Given the description of an element on the screen output the (x, y) to click on. 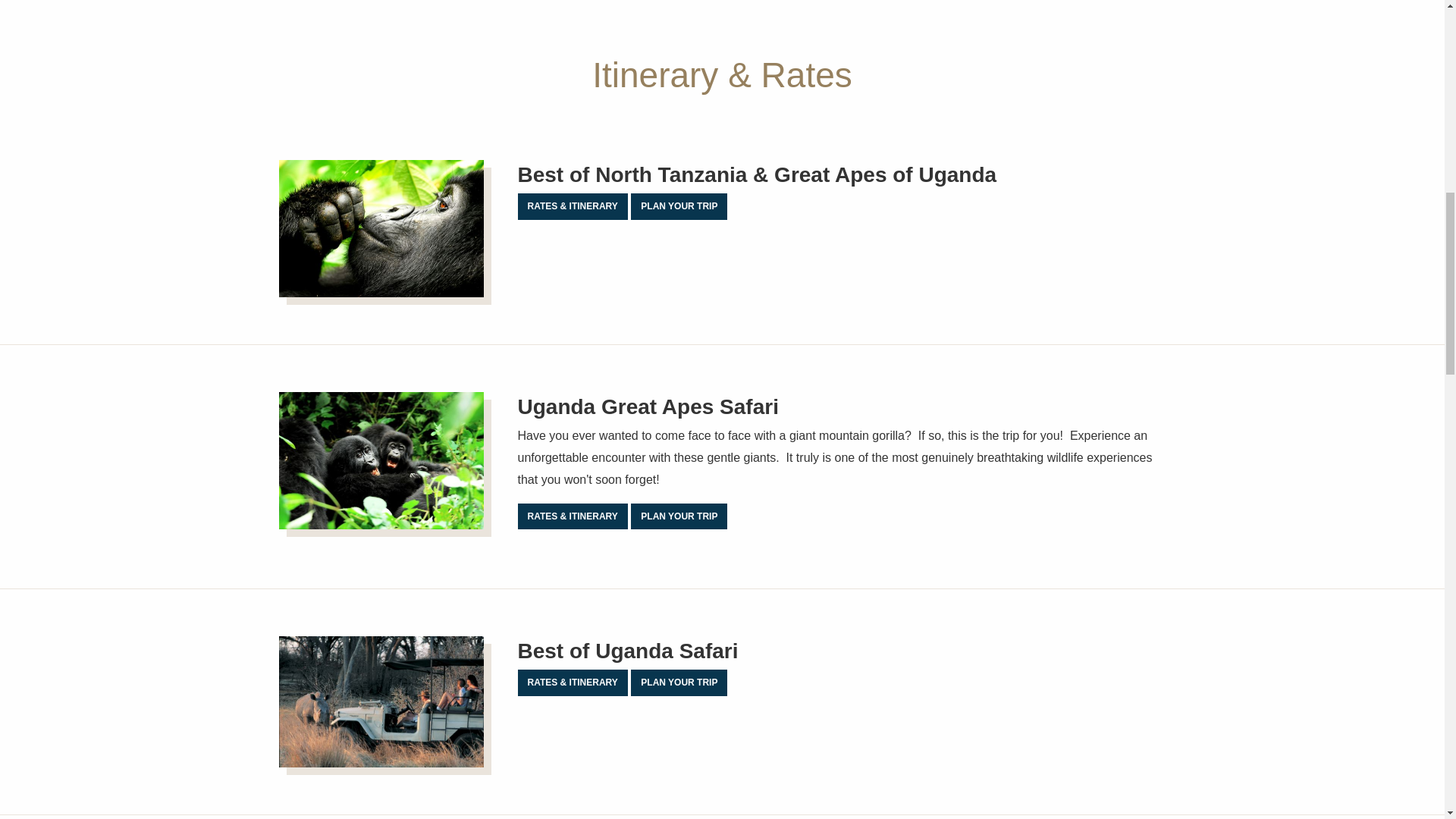
PLAN YOUR TRIP (678, 206)
